Given the description of an element on the screen output the (x, y) to click on. 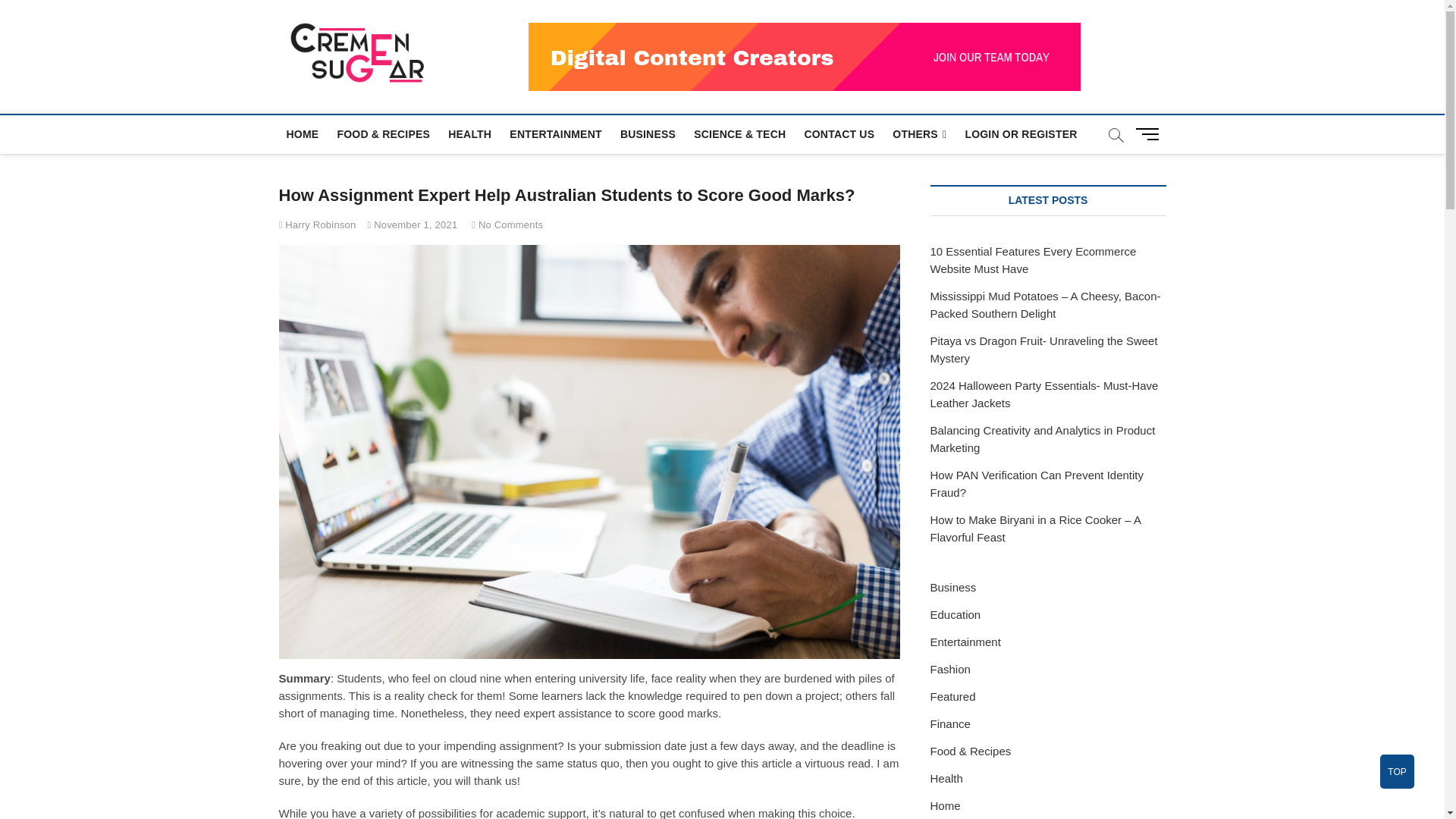
CremeNsugar (520, 50)
CONTACT US (839, 134)
BUSINESS (647, 134)
ENTERTAINMENT (555, 134)
LOGIN OR REGISTER (1020, 134)
OTHERS (919, 134)
Menu Button (1150, 133)
HOME (302, 134)
CremeNsugar (520, 50)
